Given the description of an element on the screen output the (x, y) to click on. 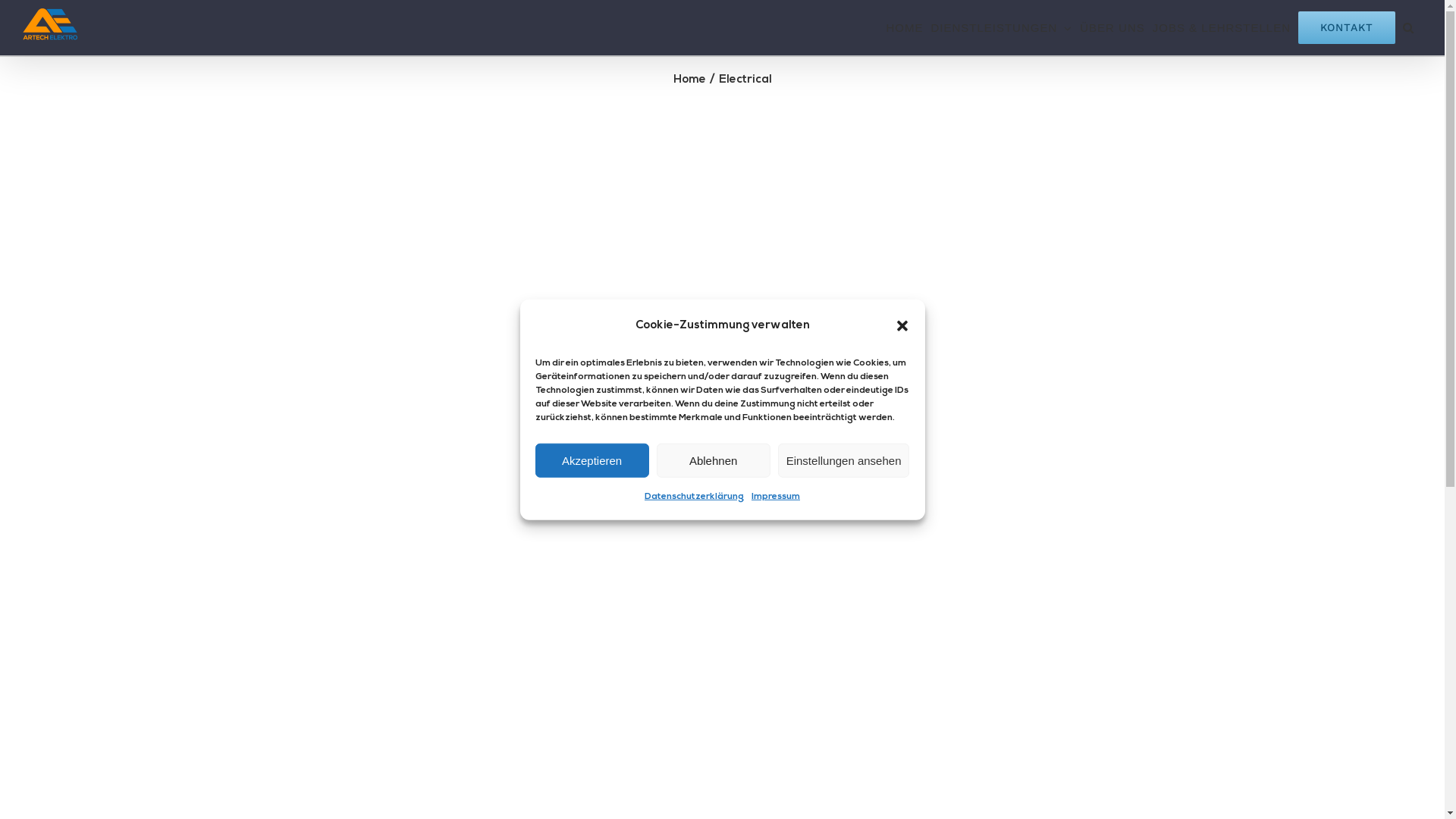
Home Element type: text (689, 79)
Search Element type: hover (1408, 27)
Akzeptieren Element type: text (592, 460)
KONTAKT Element type: text (1346, 27)
Ablehnen Element type: text (713, 460)
Einstellungen ansehen Element type: text (844, 460)
DIENSTLEISTUNGEN Element type: text (1001, 27)
Impressum Element type: text (775, 496)
HOME Element type: text (903, 27)
JOBS & LEHRSTELLEN Element type: text (1221, 27)
